Given the description of an element on the screen output the (x, y) to click on. 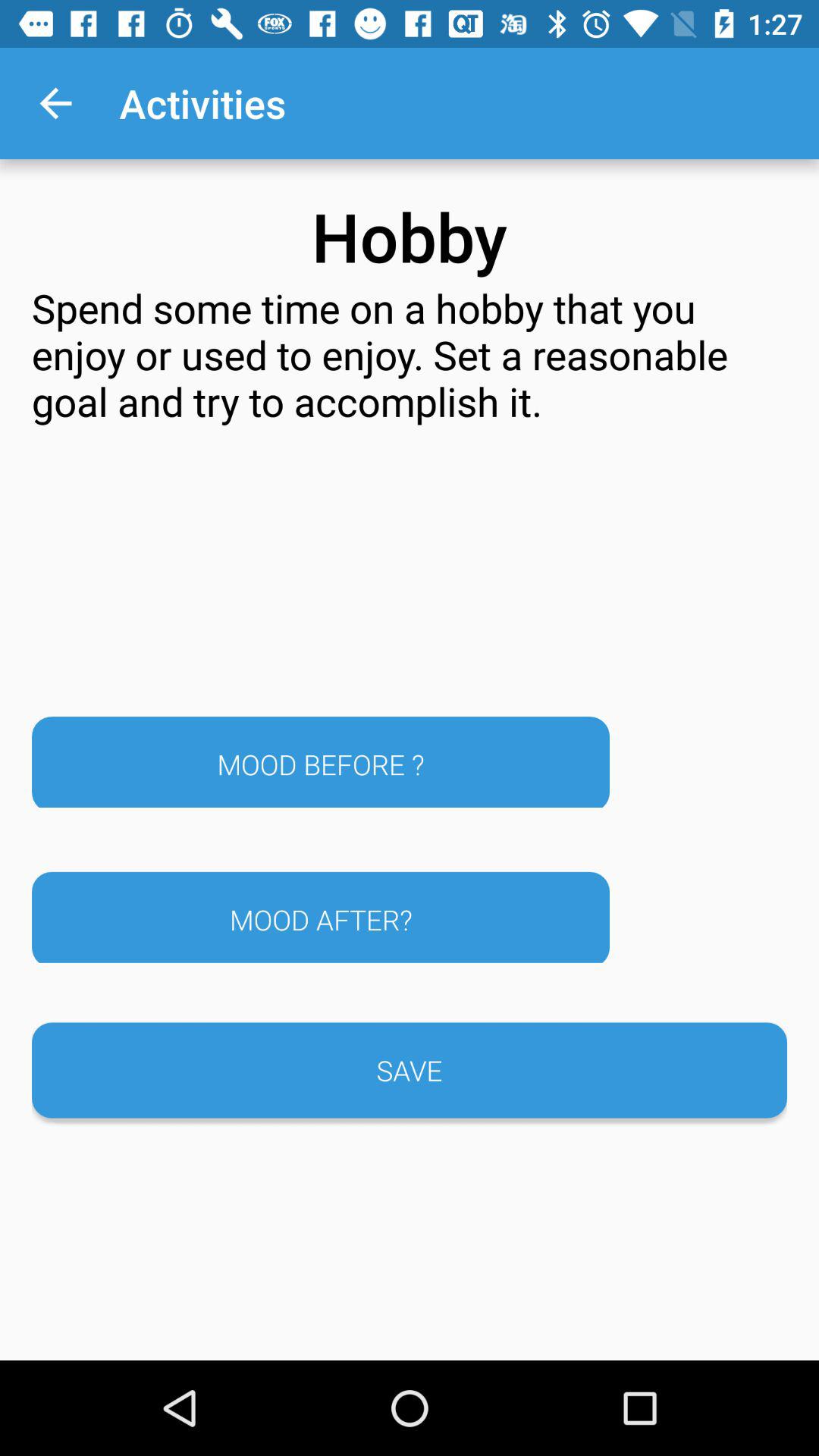
turn off icon next to the activities icon (55, 103)
